Given the description of an element on the screen output the (x, y) to click on. 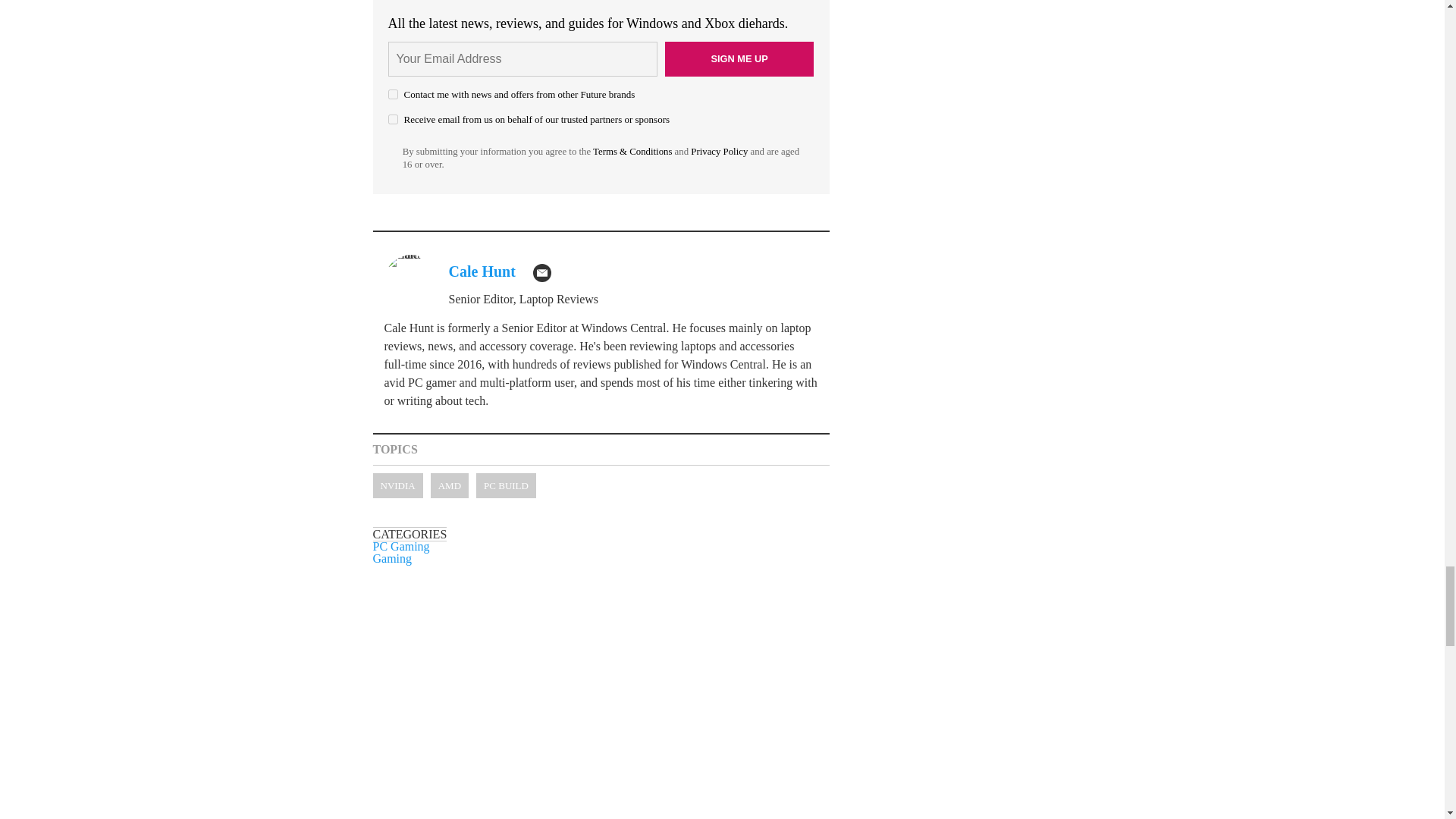
on (392, 94)
Sign me up (739, 58)
on (392, 119)
